Given the description of an element on the screen output the (x, y) to click on. 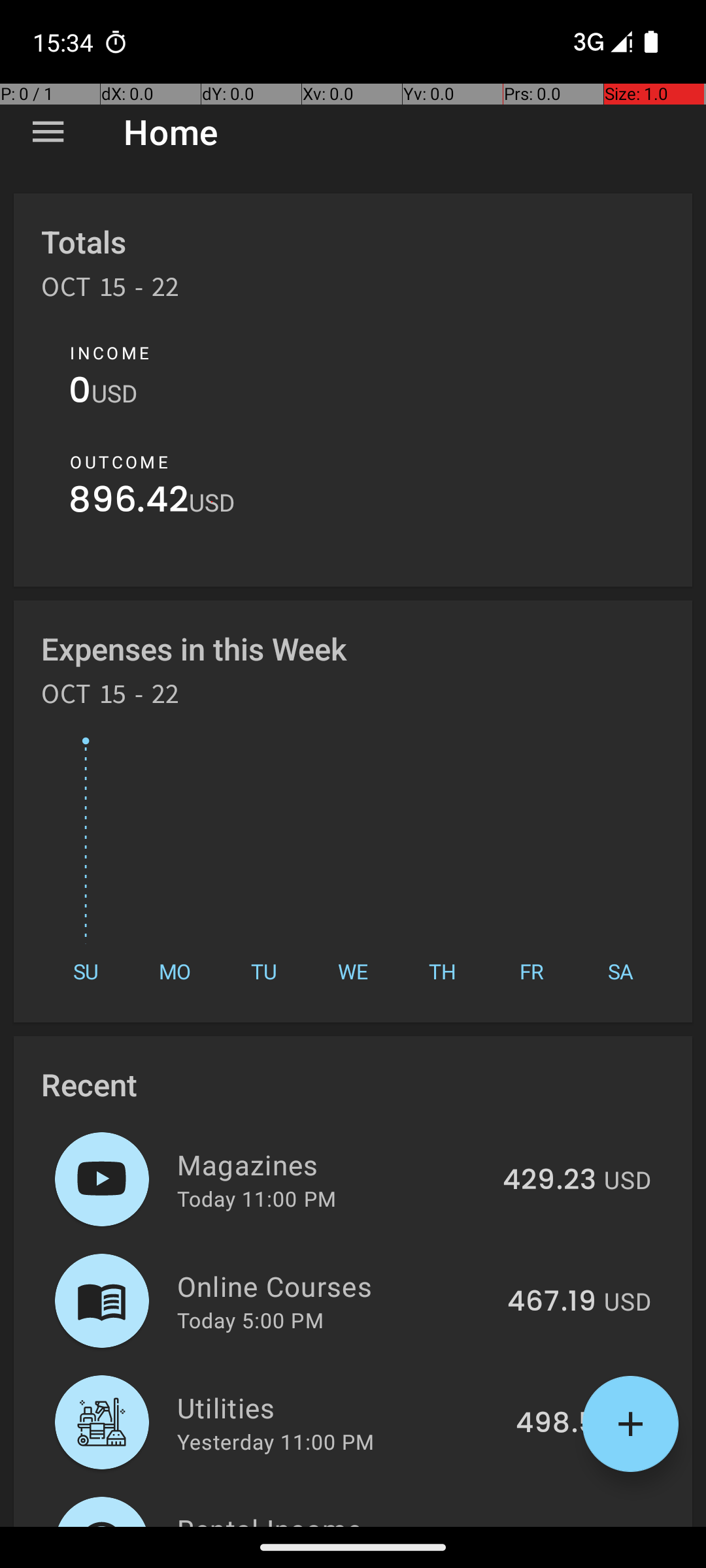
896.42 Element type: android.widget.TextView (128, 502)
429.23 Element type: android.widget.TextView (549, 1180)
Online Courses Element type: android.widget.TextView (334, 1285)
467.19 Element type: android.widget.TextView (551, 1301)
Yesterday 11:00 PM Element type: android.widget.TextView (275, 1441)
498.5 Element type: android.widget.TextView (555, 1423)
440.92 Element type: android.widget.TextView (547, 1524)
